Given the description of an element on the screen output the (x, y) to click on. 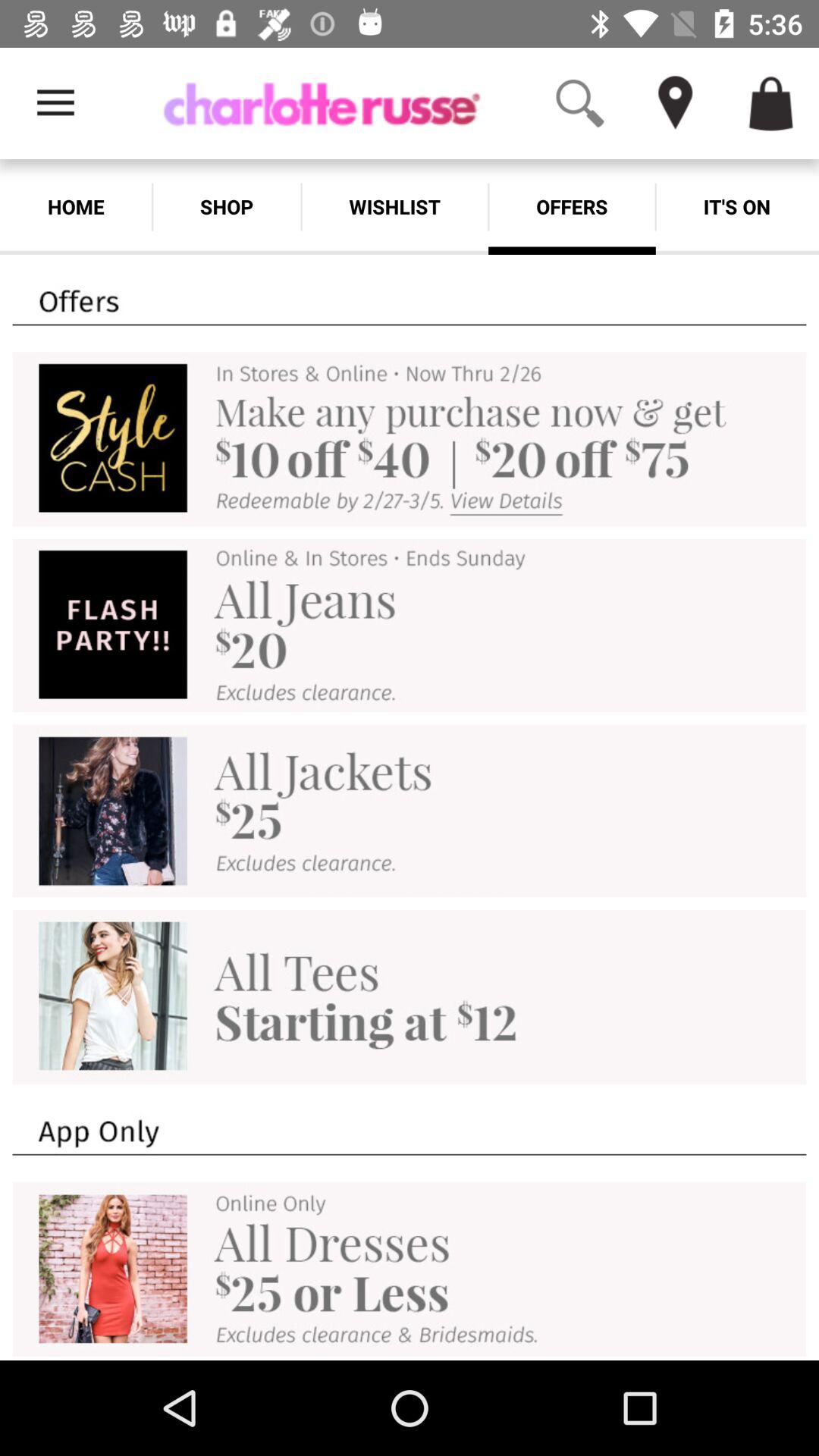
swipe to shop item (226, 206)
